Given the description of an element on the screen output the (x, y) to click on. 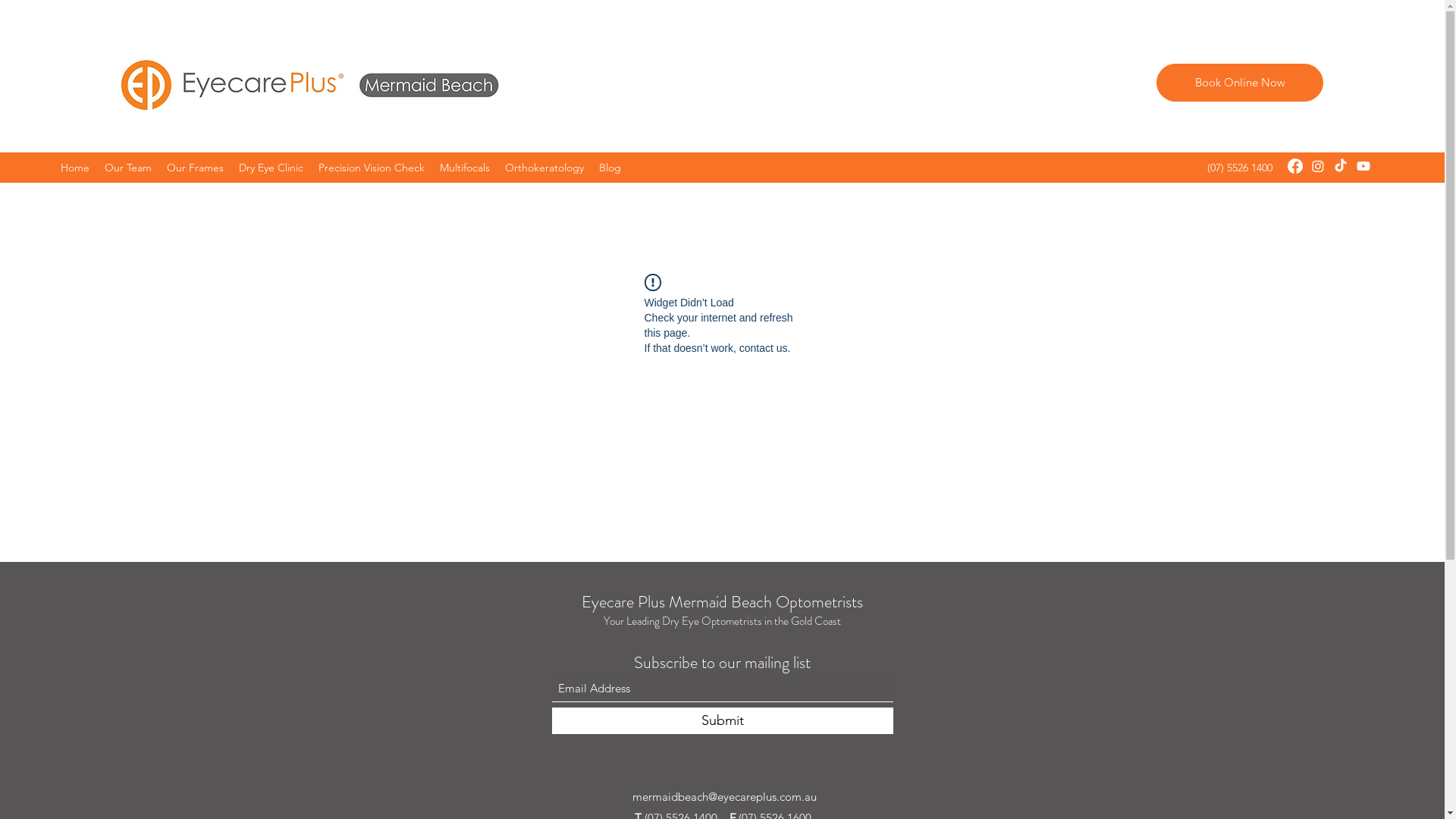
Orthokeratology Element type: text (544, 167)
Blog Element type: text (609, 167)
Our Frames Element type: text (195, 167)
Dry Eye Clinic Element type: text (270, 167)
Book Online Now Element type: text (1239, 82)
Our Team Element type: text (128, 167)
Submit Element type: text (722, 720)
Home Element type: text (75, 167)
(07) 5526 1400 Element type: text (1239, 167)
Eyecare Plus Mermaid Beach Optometrists Element type: text (721, 601)
Precision Vision Check Element type: text (371, 167)
mermaidbeach@eyecareplus.com.au Element type: text (724, 796)
Multifocals Element type: text (464, 167)
